Given the description of an element on the screen output the (x, y) to click on. 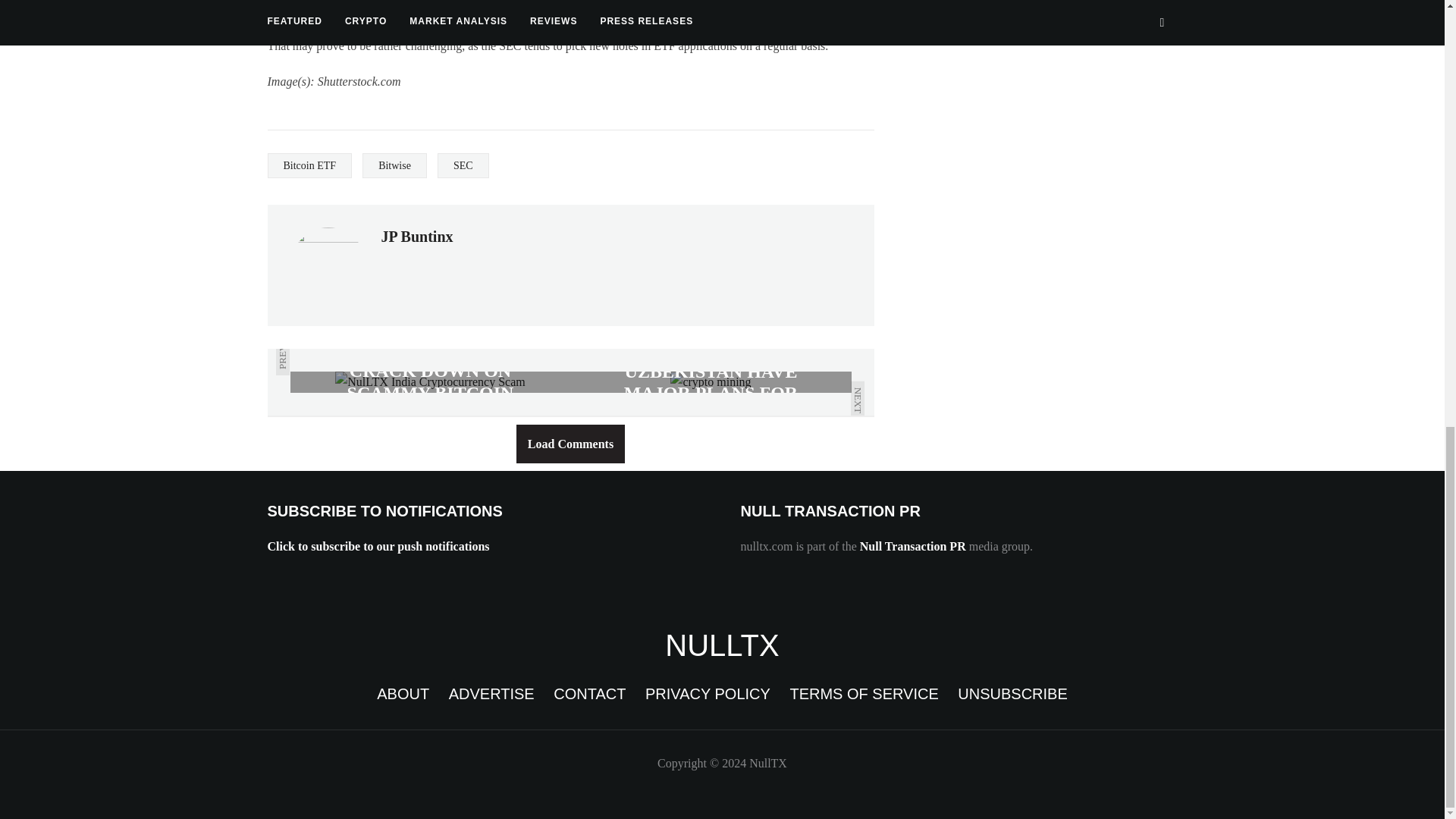
YouTube Needs to Crack Down on Scammy Bitcoin Livestreams (429, 381)
PRIVACY POLICY (707, 693)
Bitcoin ETF (309, 165)
Click to subscribe to our push notifications (377, 545)
UNSUBSCRIBE (1012, 693)
Null Transaction PR (913, 545)
Cryptocurrency News (721, 644)
ABOUT (403, 693)
Bitwise (394, 165)
TERMS OF SERVICE (863, 693)
Load Comments (570, 444)
NULLTX (721, 644)
JP Buntinx (416, 236)
SEC (463, 165)
